Given the description of an element on the screen output the (x, y) to click on. 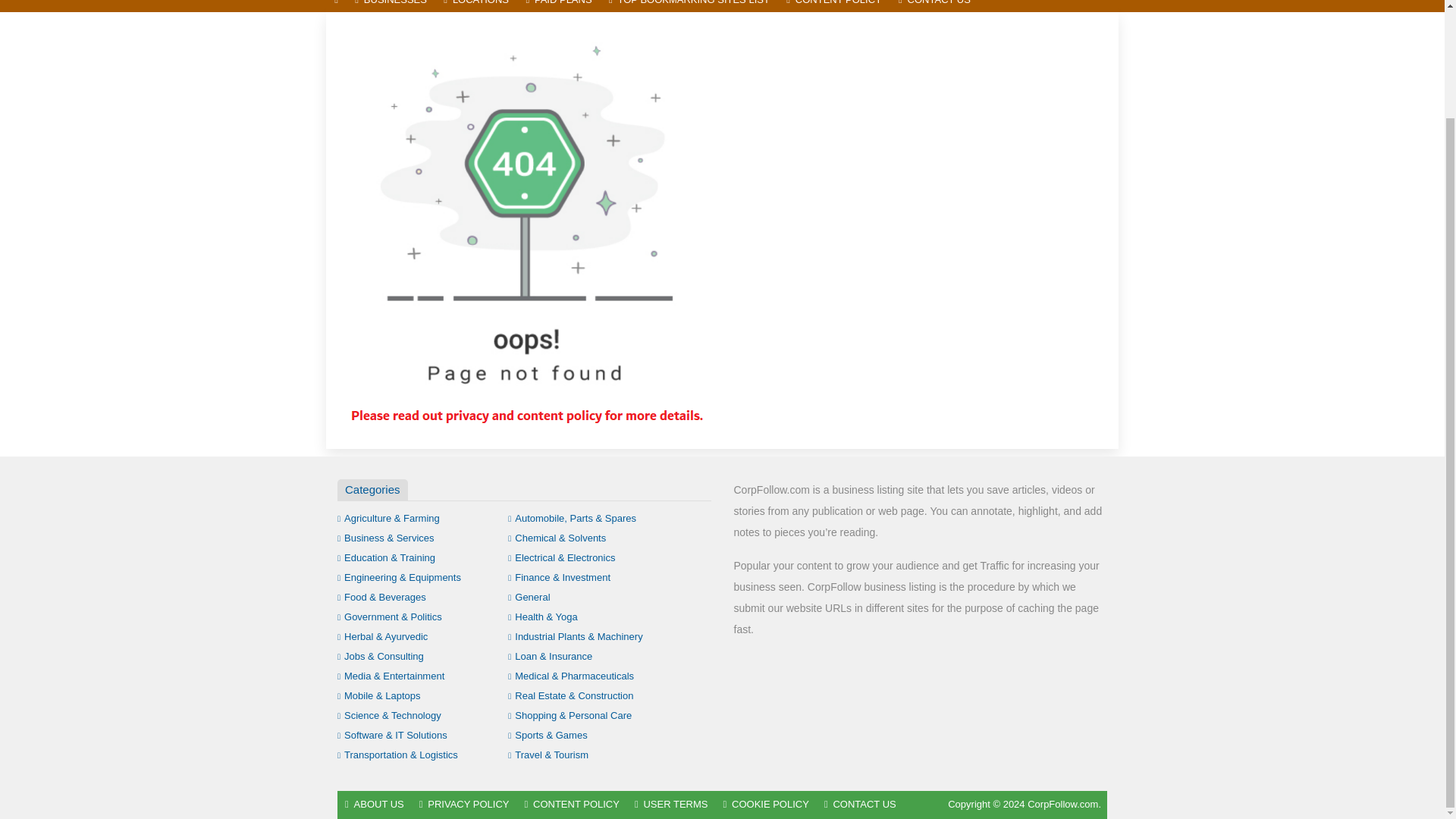
LOCATIONS (475, 6)
General (529, 596)
TOP BOOKMARKING SITES LIST (688, 6)
CONTACT US (933, 6)
PAID PLANS (557, 6)
BUSINESSES (390, 6)
HOME (336, 6)
CONTENT POLICY (833, 6)
